Given the description of an element on the screen output the (x, y) to click on. 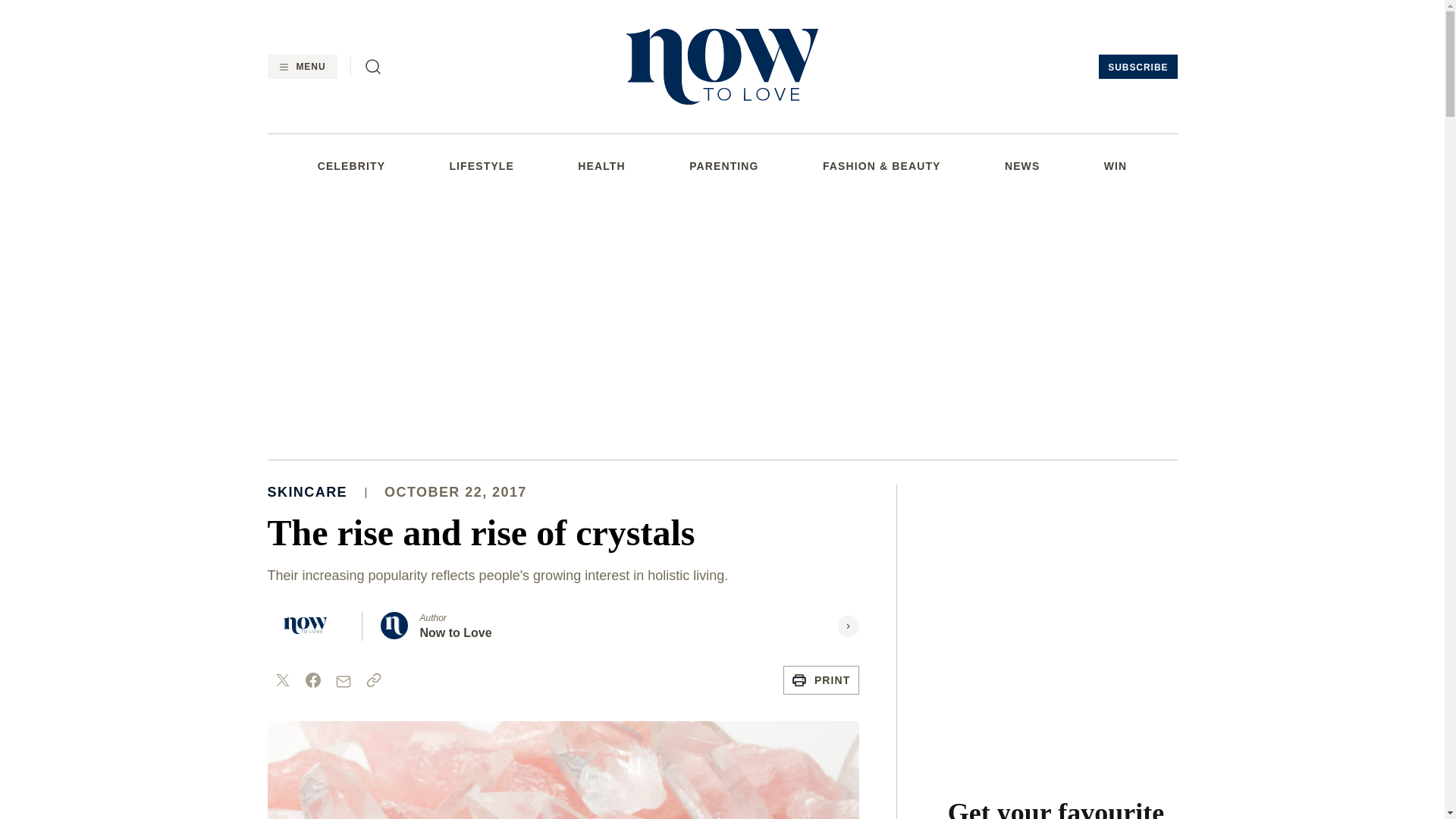
LIFESTYLE (480, 165)
MENU (301, 66)
PARENTING (723, 165)
HEALTH (601, 165)
SUBSCRIBE (1137, 66)
WIN (1114, 165)
CELEBRITY (351, 165)
NEWS (1021, 165)
